Given the description of an element on the screen output the (x, y) to click on. 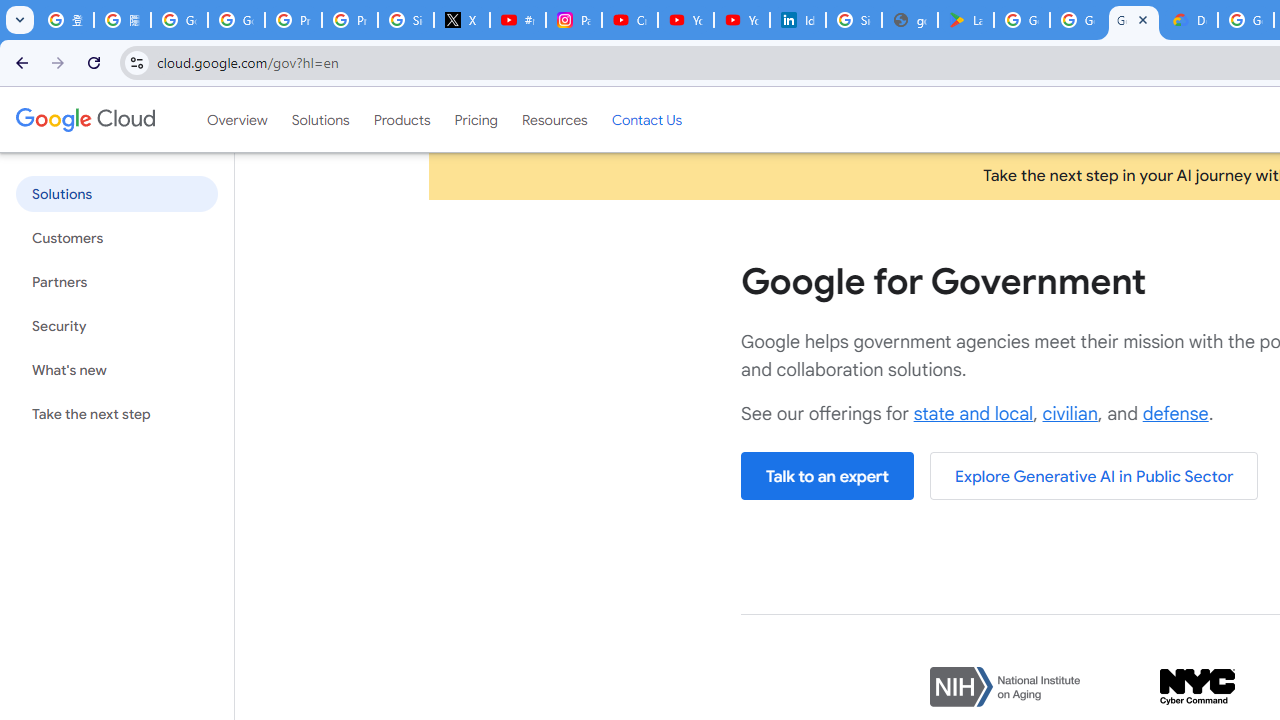
Government | Google Cloud (1133, 20)
NYC (1197, 687)
civilian (1069, 413)
YouTube Culture & Trends - YouTube Top 10, 2021 (742, 20)
Google Cloud (84, 119)
